Given the description of an element on the screen output the (x, y) to click on. 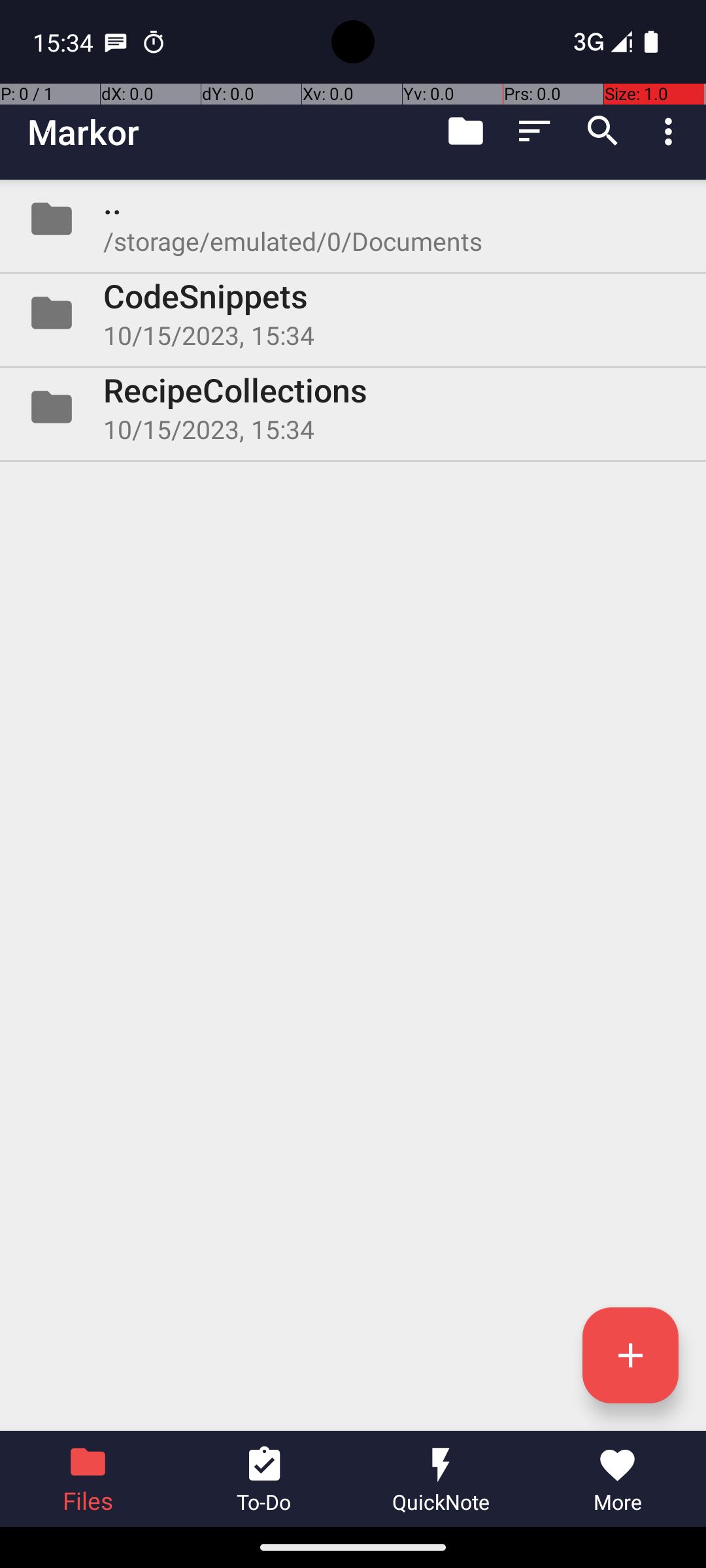
Folder CodeSnippets  Element type: android.widget.LinearLayout (353, 312)
Folder RecipeCollections  Element type: android.widget.LinearLayout (353, 406)
